Given the description of an element on the screen output the (x, y) to click on. 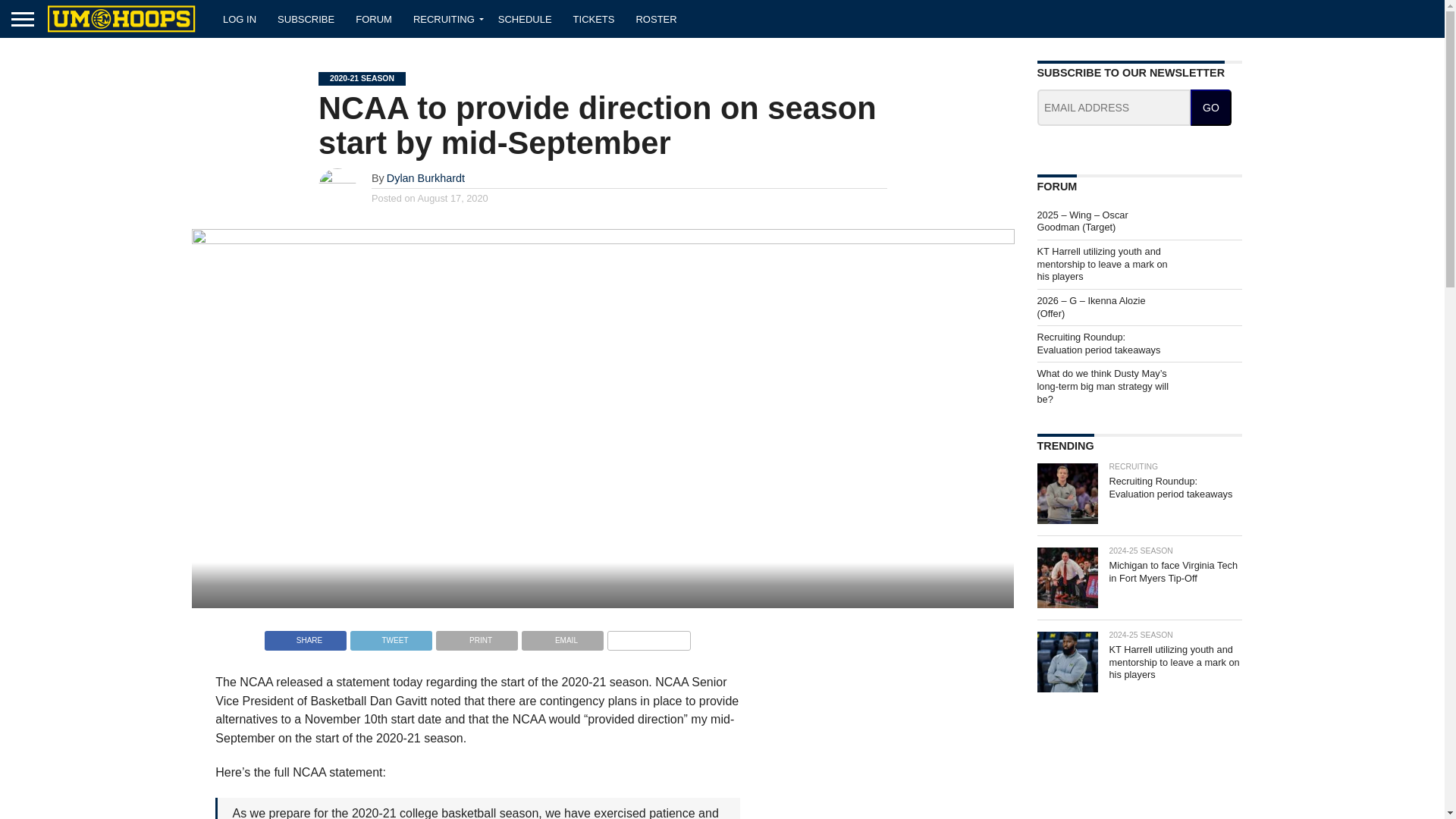
SCHEDULE (524, 18)
Dylan Burkhardt (425, 177)
LOG IN (239, 18)
ROSTER (655, 18)
TICKETS (594, 18)
FORUM (374, 18)
RECRUITING (445, 18)
Share on Facebook (305, 635)
Posts by Dylan Burkhardt (425, 177)
Print this post (476, 635)
Recruiting Roundup: Evaluation period takeaways (1098, 343)
Tweet This Post (390, 635)
SUBSCRIBE (305, 18)
